Given the description of an element on the screen output the (x, y) to click on. 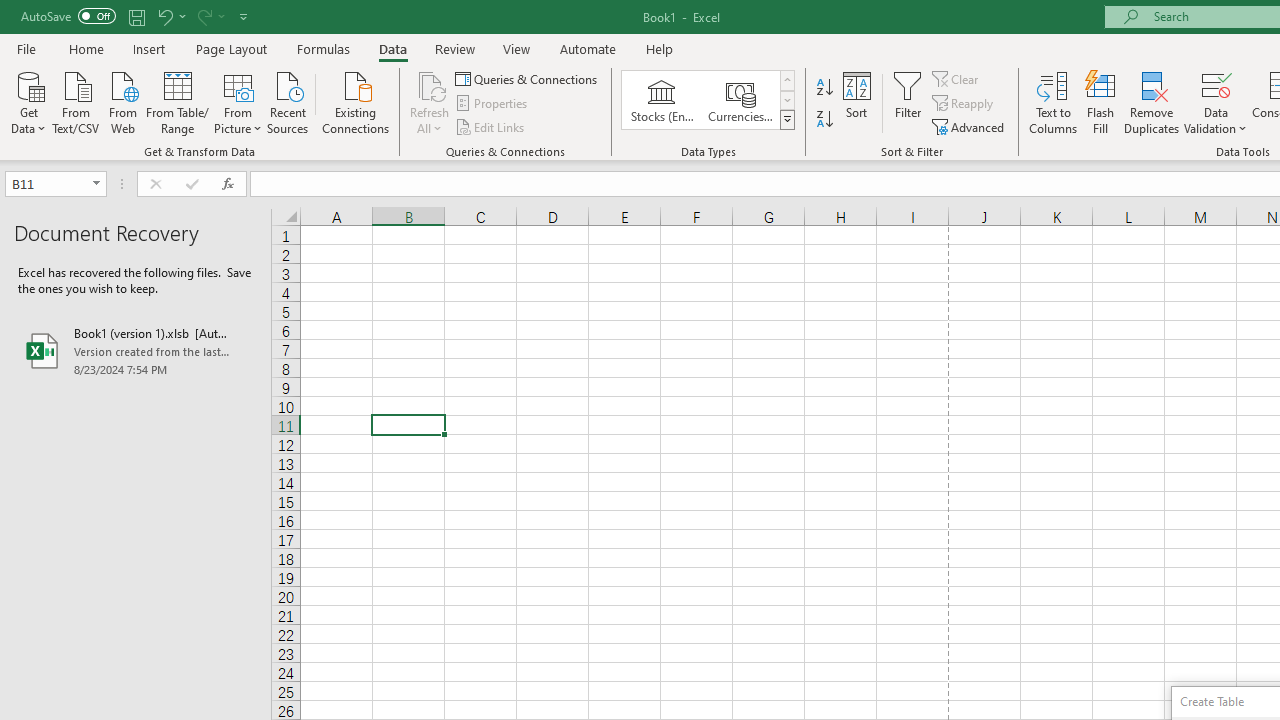
Data Types (786, 120)
From Text/CSV (75, 101)
Flash Fill (1101, 102)
From Picture (238, 101)
Recent Sources (287, 101)
Existing Connections (355, 101)
Advanced... (970, 126)
